Given the description of an element on the screen output the (x, y) to click on. 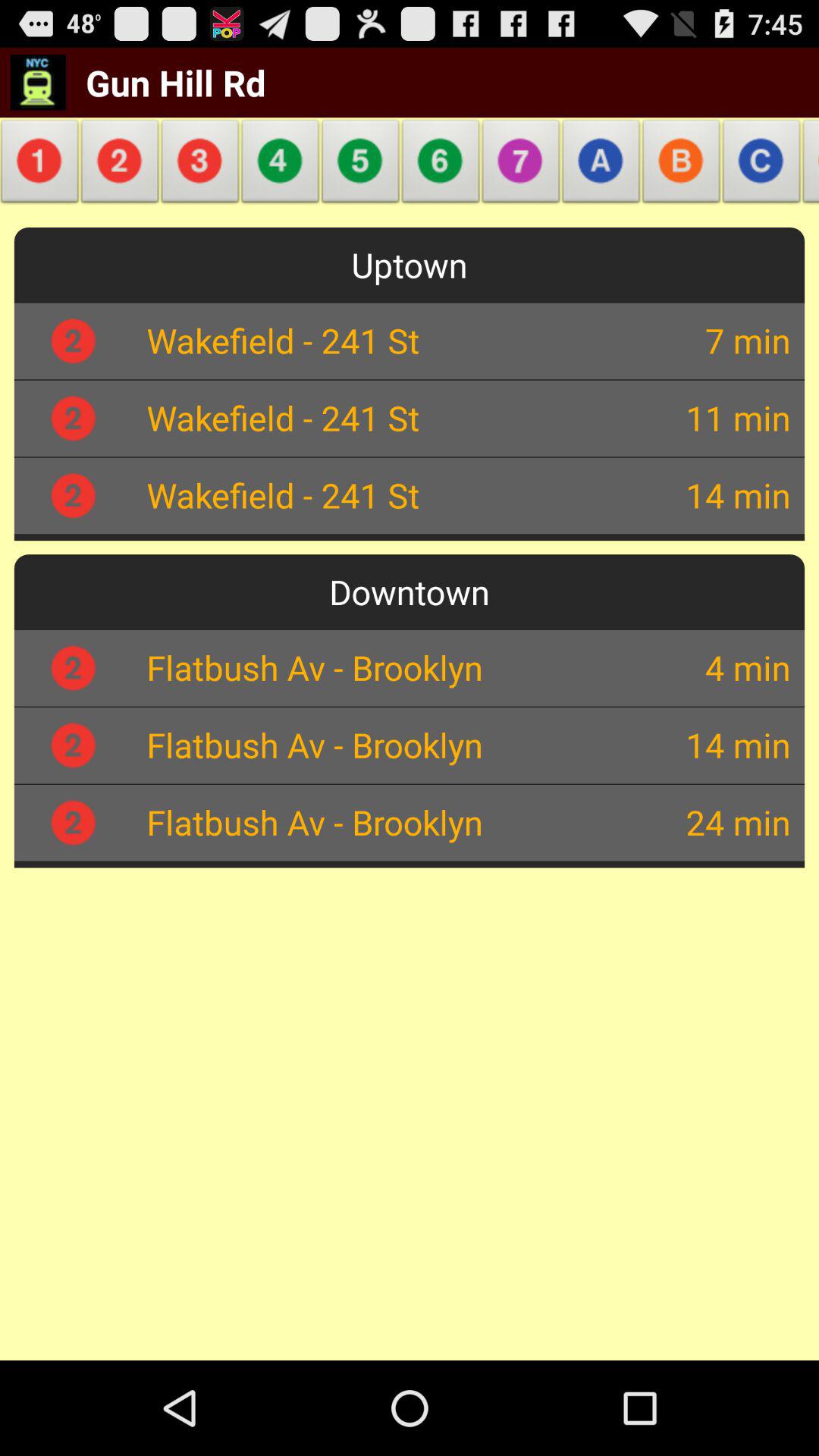
open icon next to gun hill rd app (360, 165)
